Given the description of an element on the screen output the (x, y) to click on. 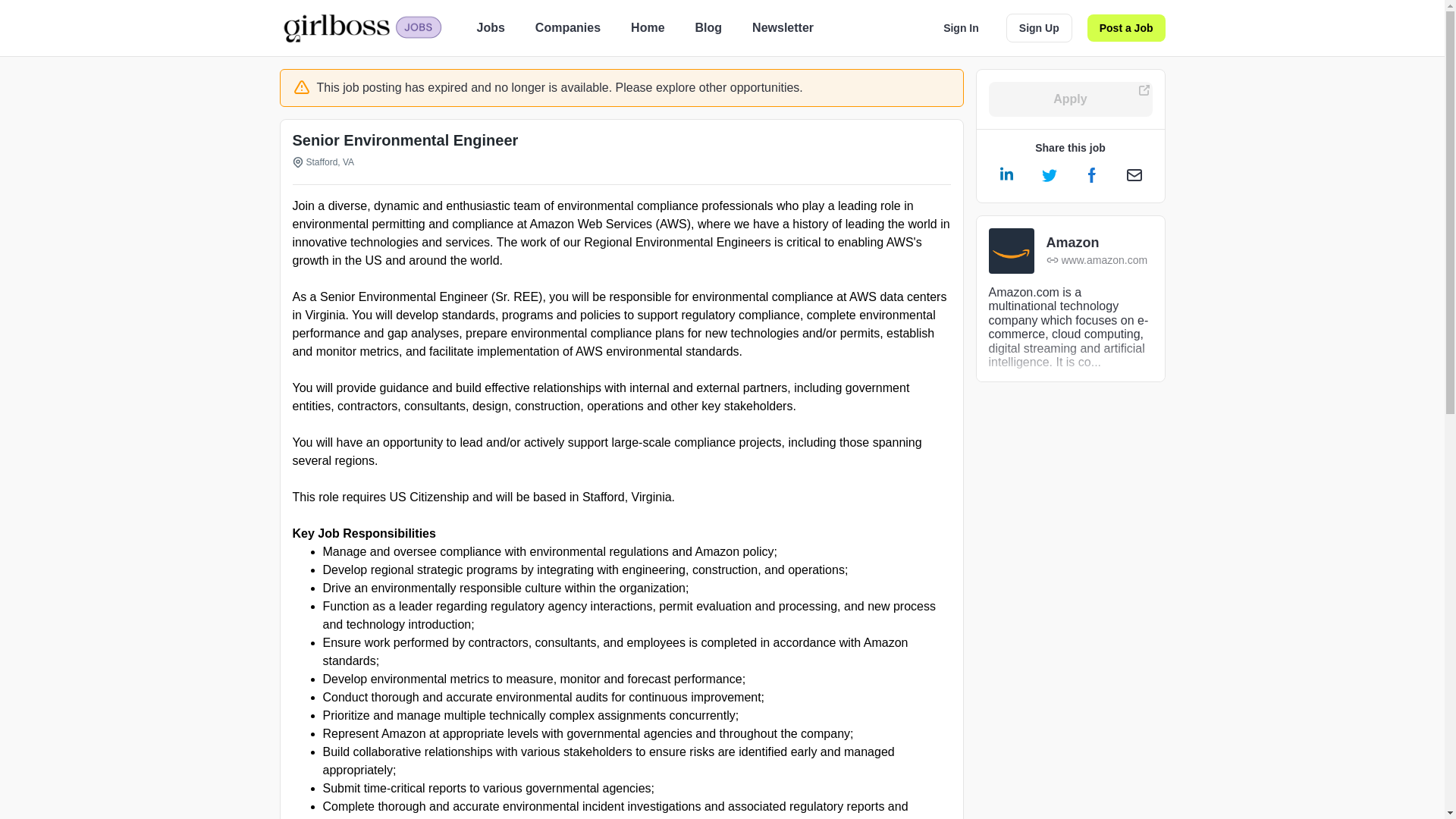
Companies (567, 27)
Sign Up (1038, 27)
Newsletter (782, 27)
Jobs (489, 27)
Post a Job (1126, 27)
Sign In (961, 27)
Amazon (1097, 242)
www.amazon.com (1097, 259)
Blog (708, 27)
Apply (1070, 99)
Home (646, 27)
